Given the description of an element on the screen output the (x, y) to click on. 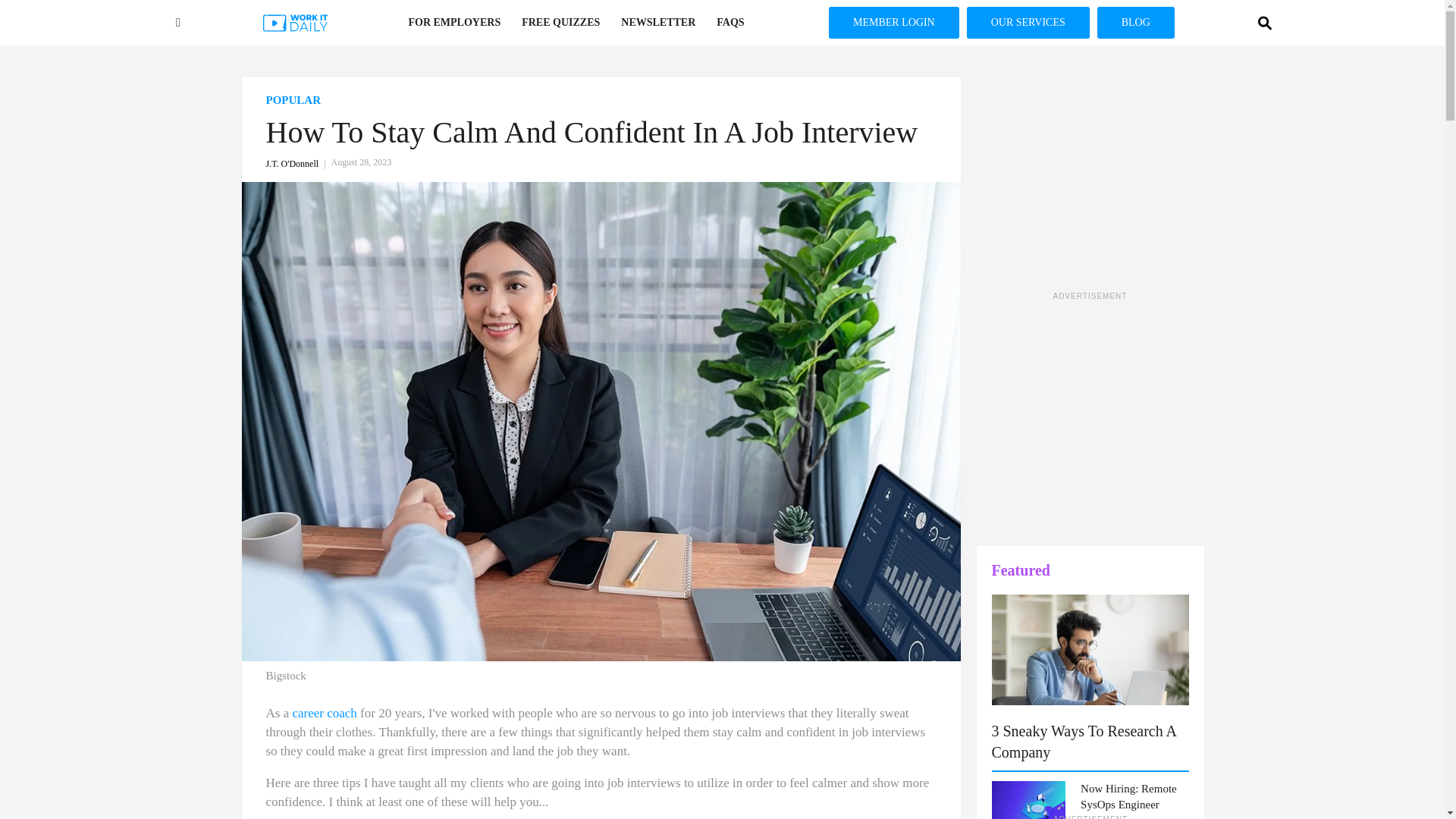
FREE QUIZZES (560, 22)
NEWSLETTER (658, 22)
J.T. O'Donnell (297, 163)
FAQS (730, 22)
OUR SERVICES (1027, 22)
FOR EMPLOYERS (454, 22)
POPULAR (600, 99)
career coach (324, 712)
MEMBER LOGIN (893, 22)
BLOG (1135, 22)
